Given the description of an element on the screen output the (x, y) to click on. 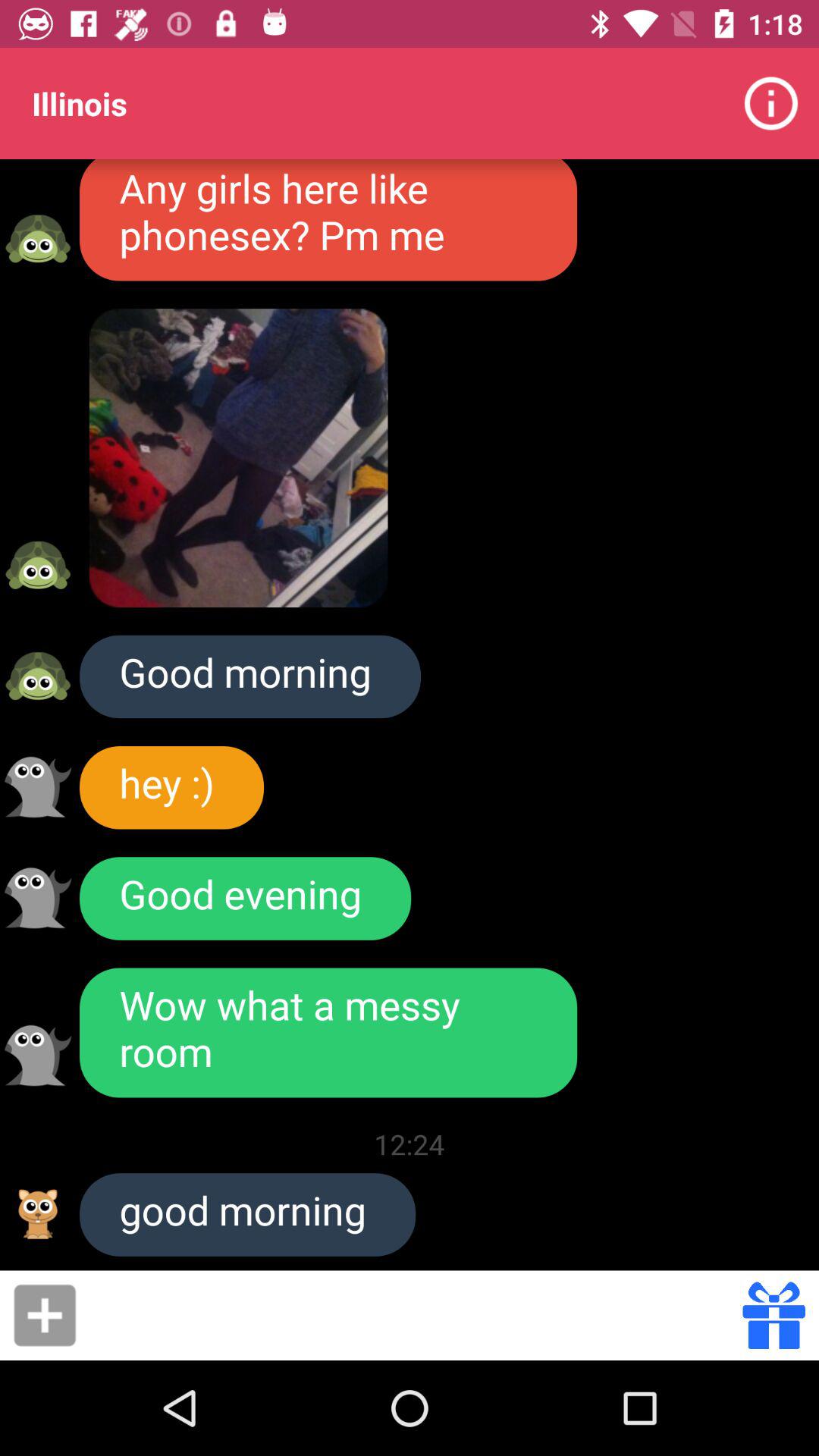
click hey :)  icon (171, 787)
